Given the description of an element on the screen output the (x, y) to click on. 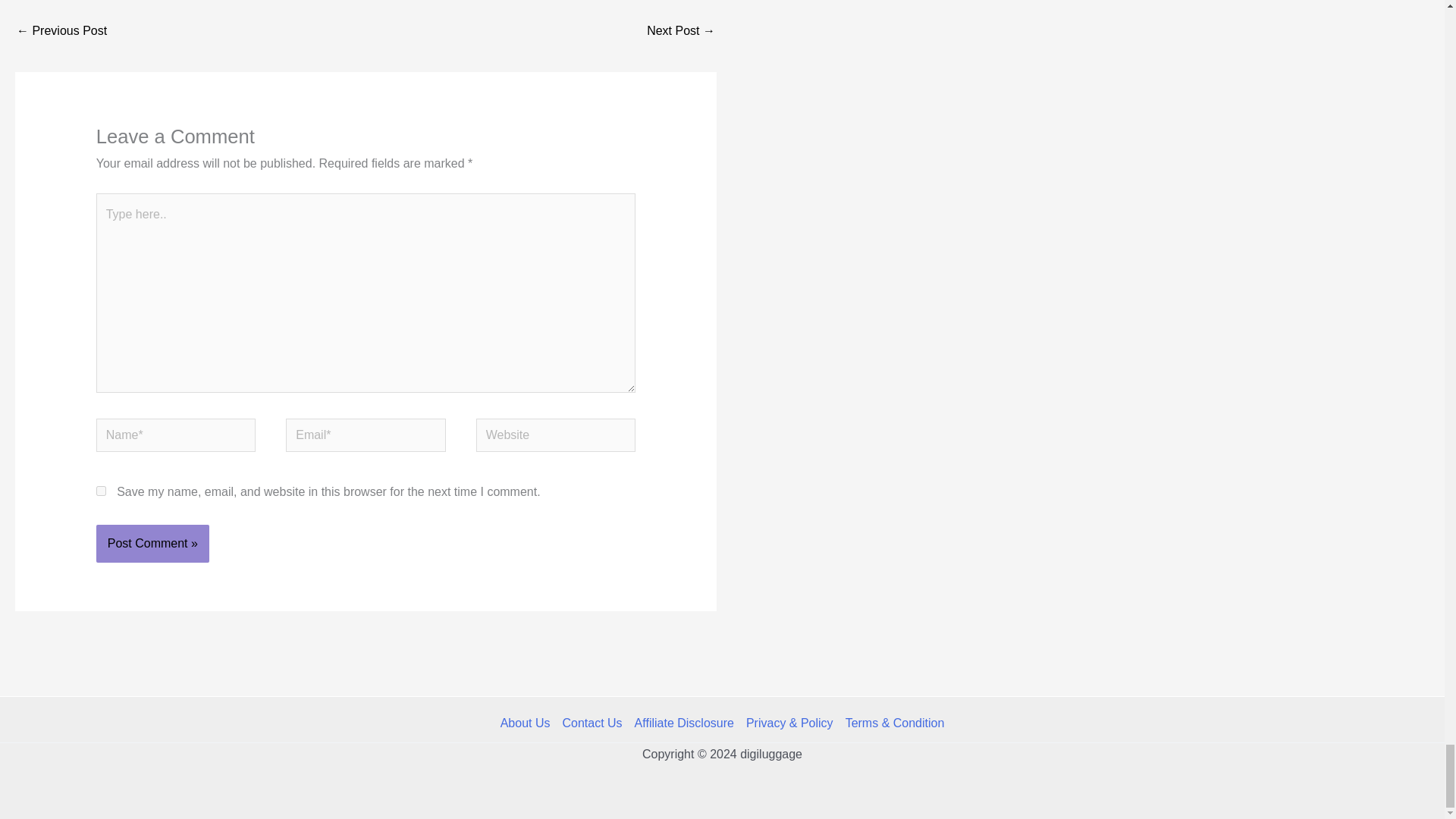
yes (101, 491)
How to connect sleeping bag to backpack (680, 31)
How to attach sleeping bag to backpack (61, 31)
